Given the description of an element on the screen output the (x, y) to click on. 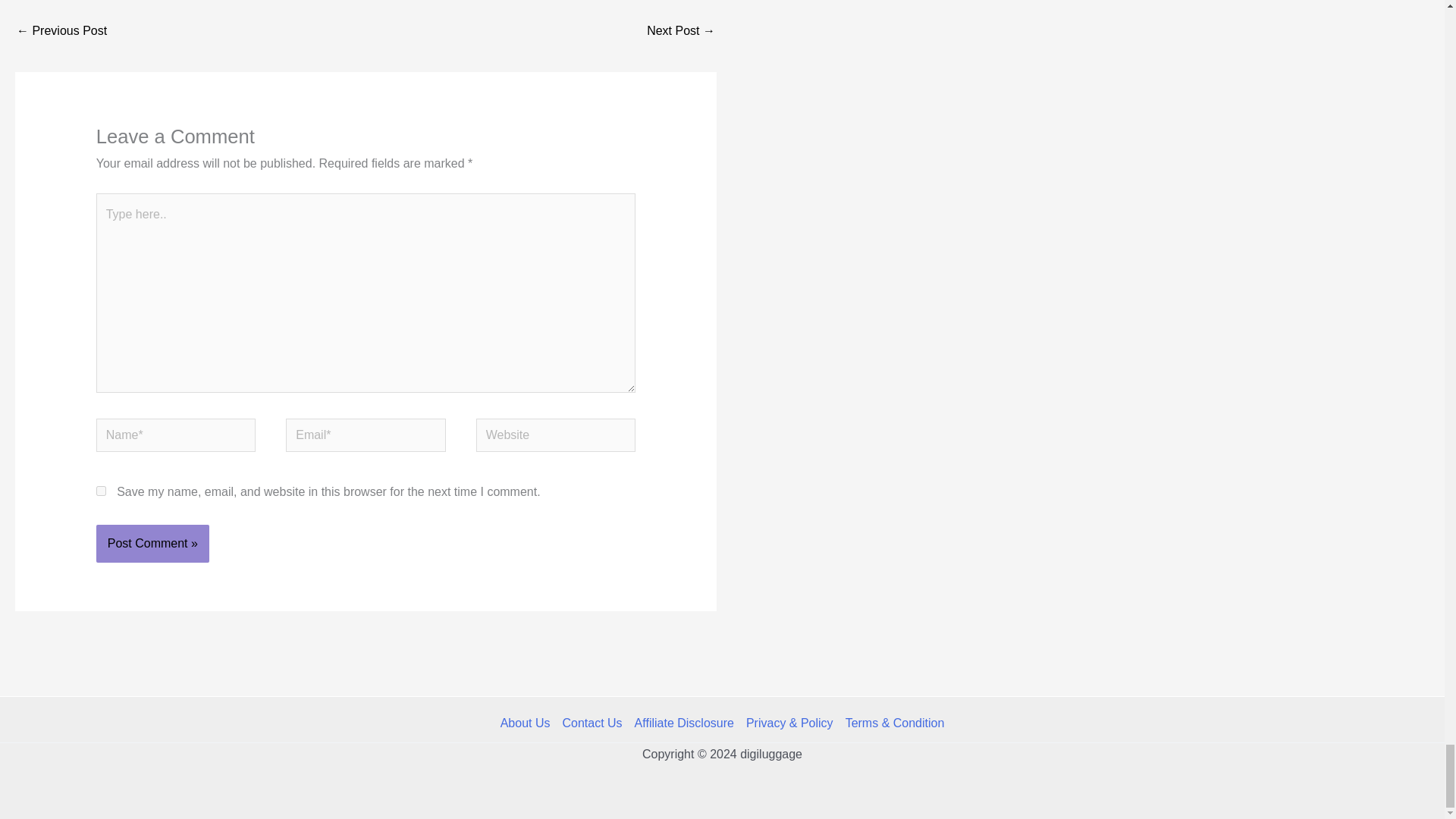
yes (101, 491)
How to connect sleeping bag to backpack (680, 31)
How to attach sleeping bag to backpack (61, 31)
